Given the description of an element on the screen output the (x, y) to click on. 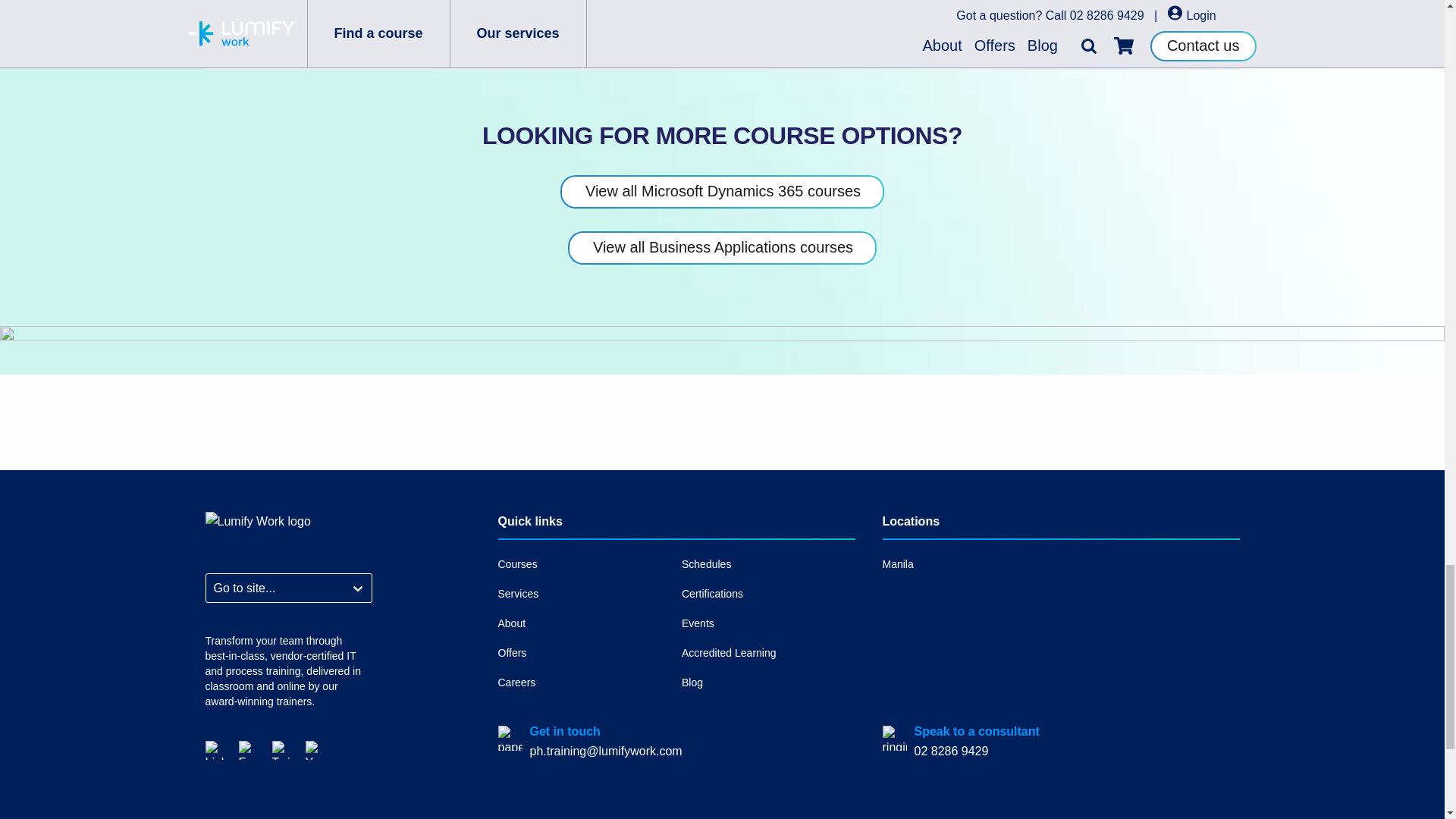
LinkedIn (213, 748)
Services (584, 593)
Careers (584, 682)
View all Business Applications courses (721, 247)
Offers (584, 652)
Schedules (768, 564)
Twitter (279, 748)
YouTube (313, 748)
Certifications (768, 593)
View all Microsoft Dynamics 365 courses (721, 191)
Facebook (247, 748)
About (584, 623)
Courses (584, 564)
